Given the description of an element on the screen output the (x, y) to click on. 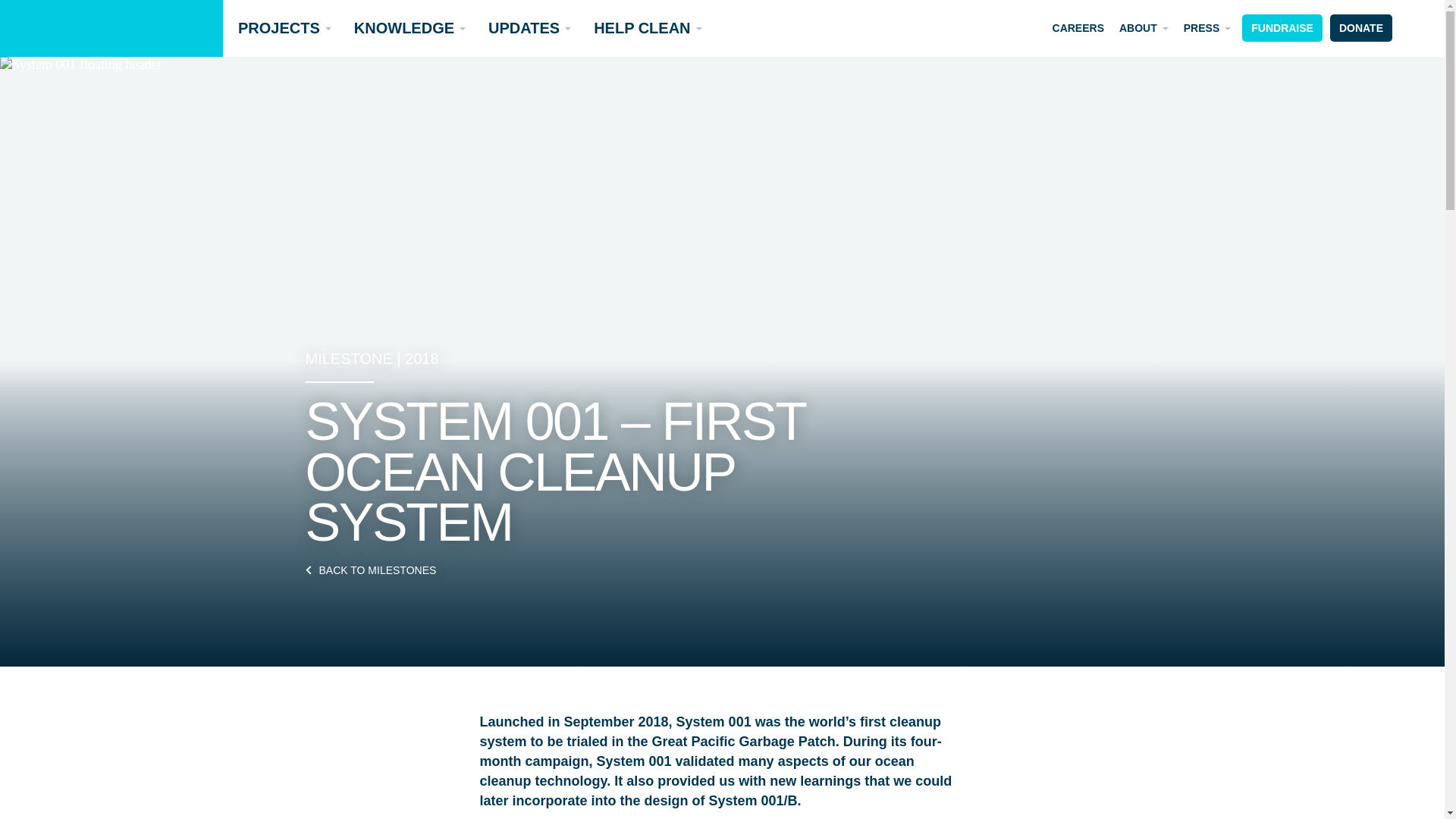
The Ocean Cleanup (111, 28)
KNOWLEDGE (406, 28)
PROJECTS (280, 28)
UPDATES (525, 28)
